Given the description of an element on the screen output the (x, y) to click on. 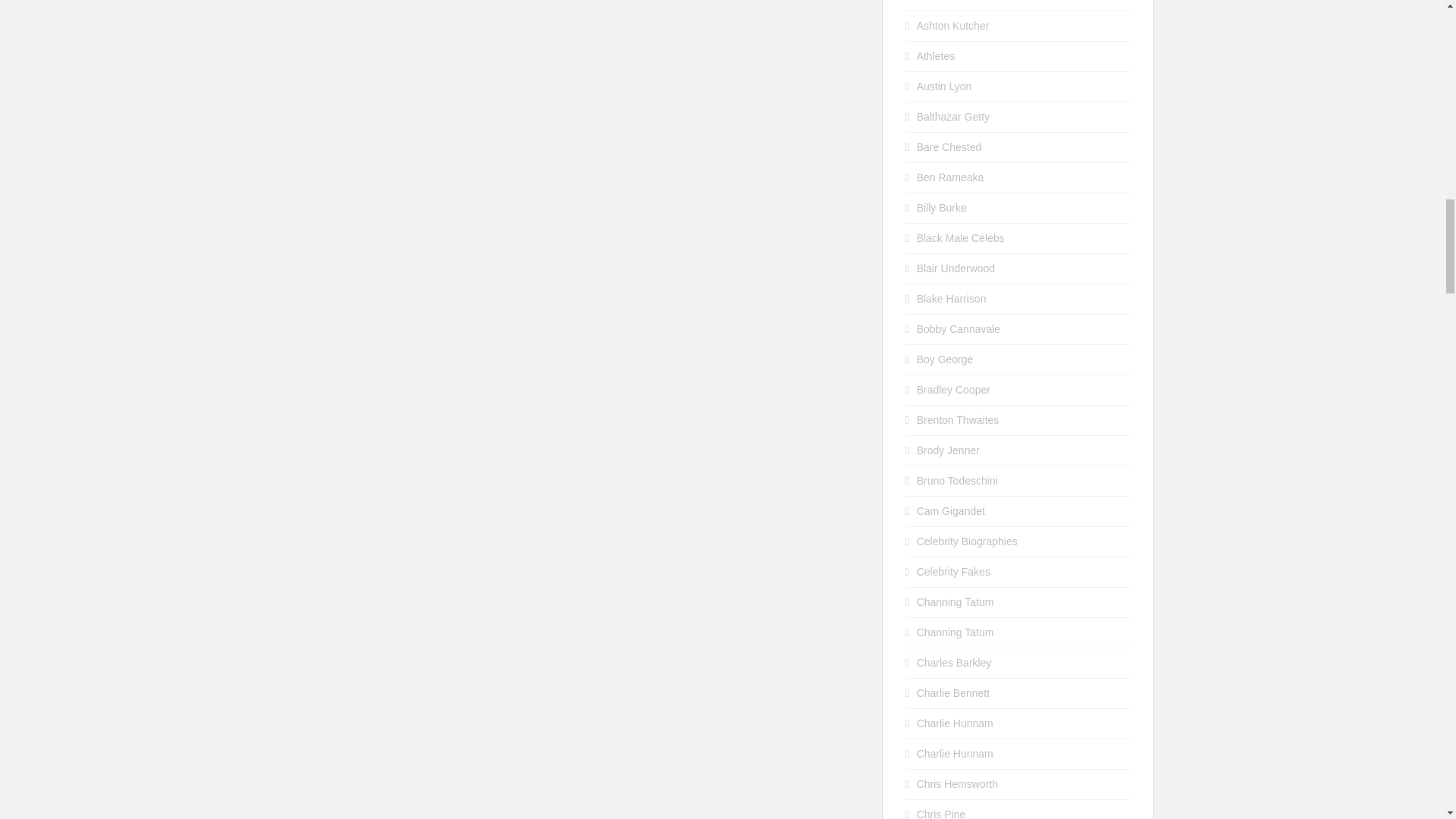
Athletes (936, 55)
Billy Burke (941, 207)
Bare Chested (949, 146)
Ashton Kutcher (953, 25)
Balthazar Getty (953, 116)
Austin Lyon (944, 86)
Ben Rameaka (950, 177)
Ashton Kutcher (953, 0)
